Given the description of an element on the screen output the (x, y) to click on. 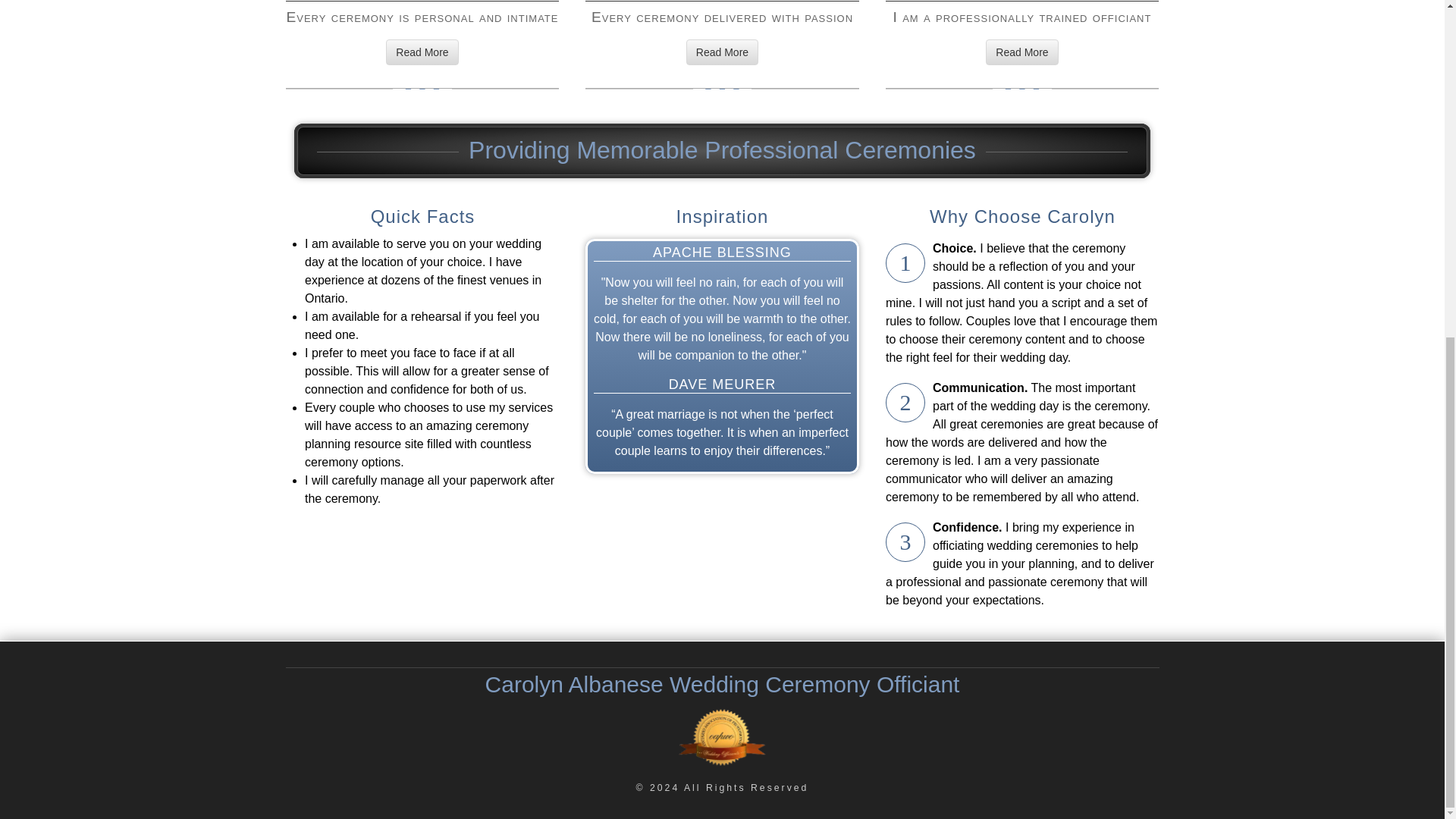
Read More (421, 52)
Read More (721, 52)
Read More (1021, 52)
